Given the description of an element on the screen output the (x, y) to click on. 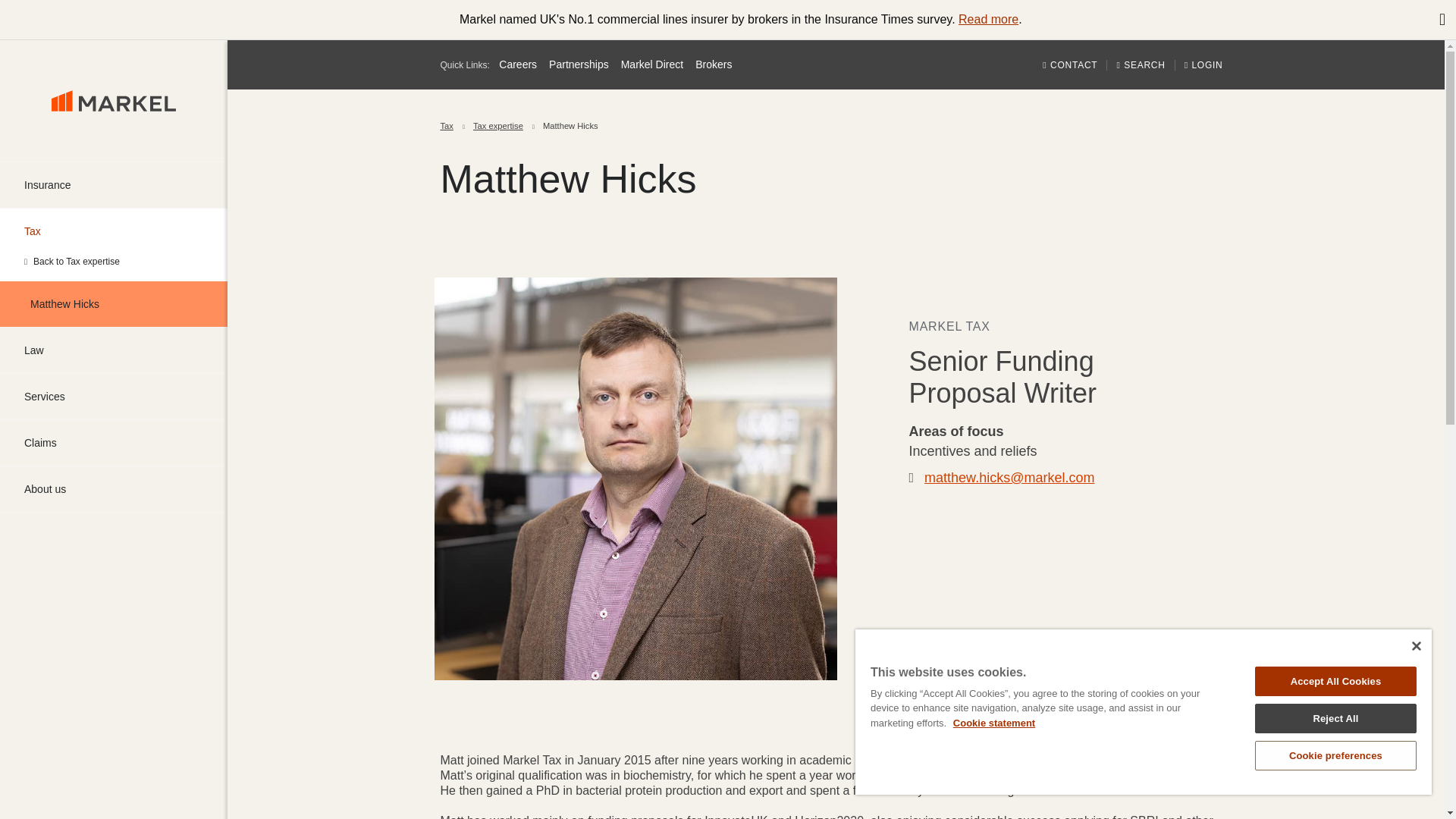
Tax (113, 230)
Tax expertise (113, 261)
Cookie preferences (1335, 755)
Cookie statement (994, 722)
Tax expertise (497, 126)
Read more (987, 19)
Insurance (113, 185)
Accept All Cookies (1335, 681)
Tax (113, 230)
Claims (113, 443)
